Given the description of an element on the screen output the (x, y) to click on. 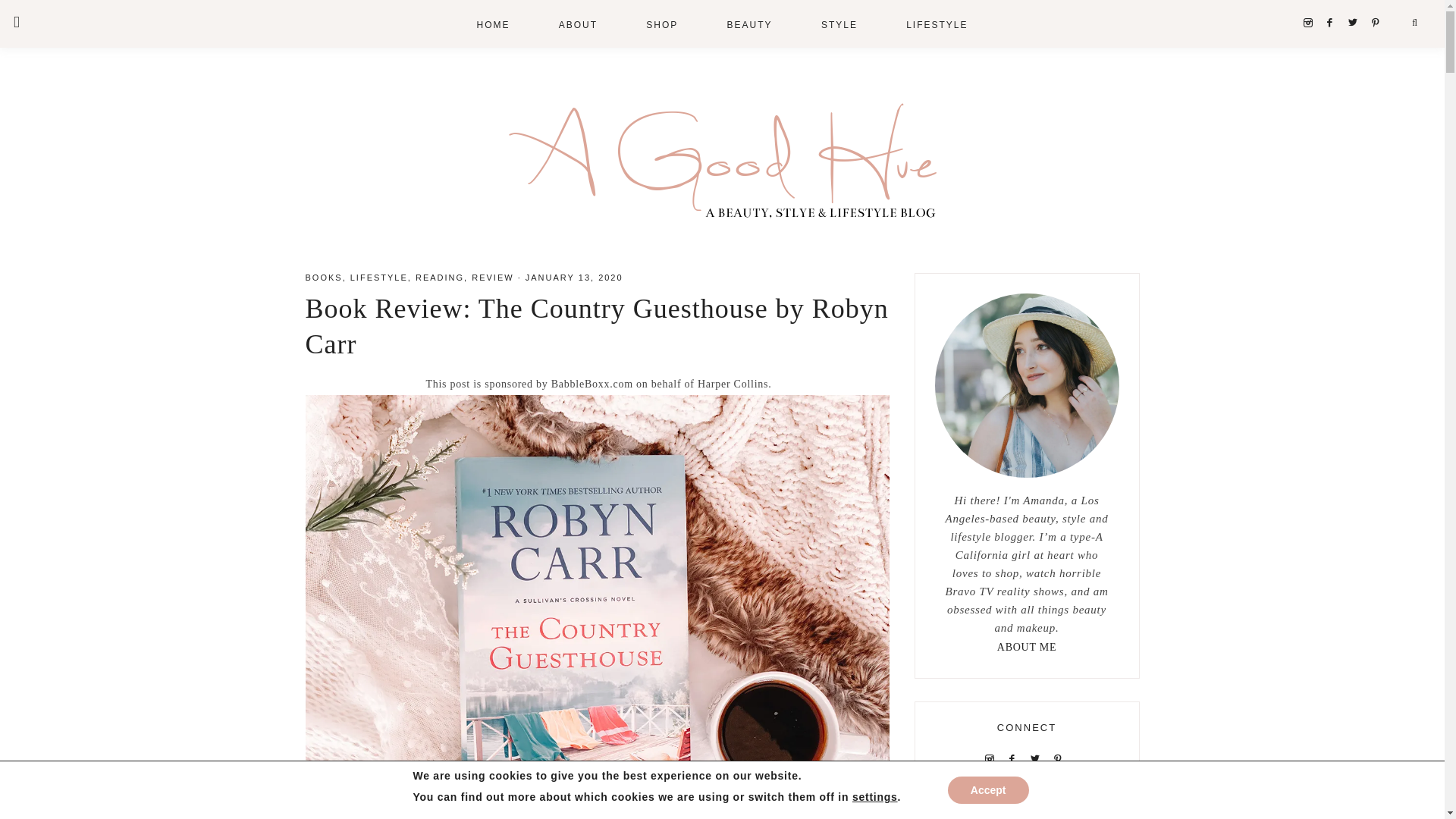
LIFESTYLE (936, 23)
STYLE (838, 23)
BOOKS (323, 276)
Pinterest (1379, 22)
Facebook (1332, 22)
Instagram (1310, 22)
SHOP (661, 23)
Twitter (1356, 22)
HOME (492, 23)
ABOUT (577, 23)
Instagram (993, 758)
BEAUTY (749, 23)
